Given the description of an element on the screen output the (x, y) to click on. 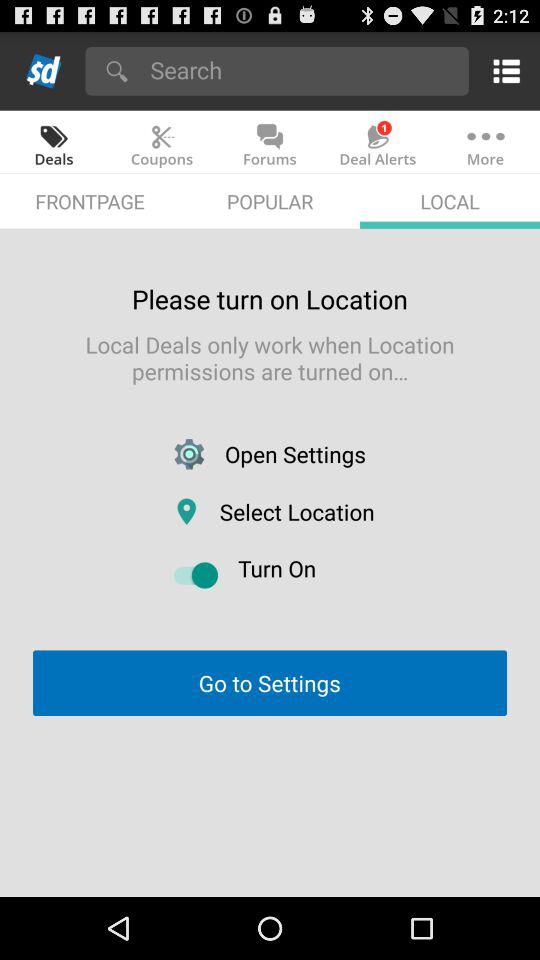
choose icon above more app (502, 70)
